Given the description of an element on the screen output the (x, y) to click on. 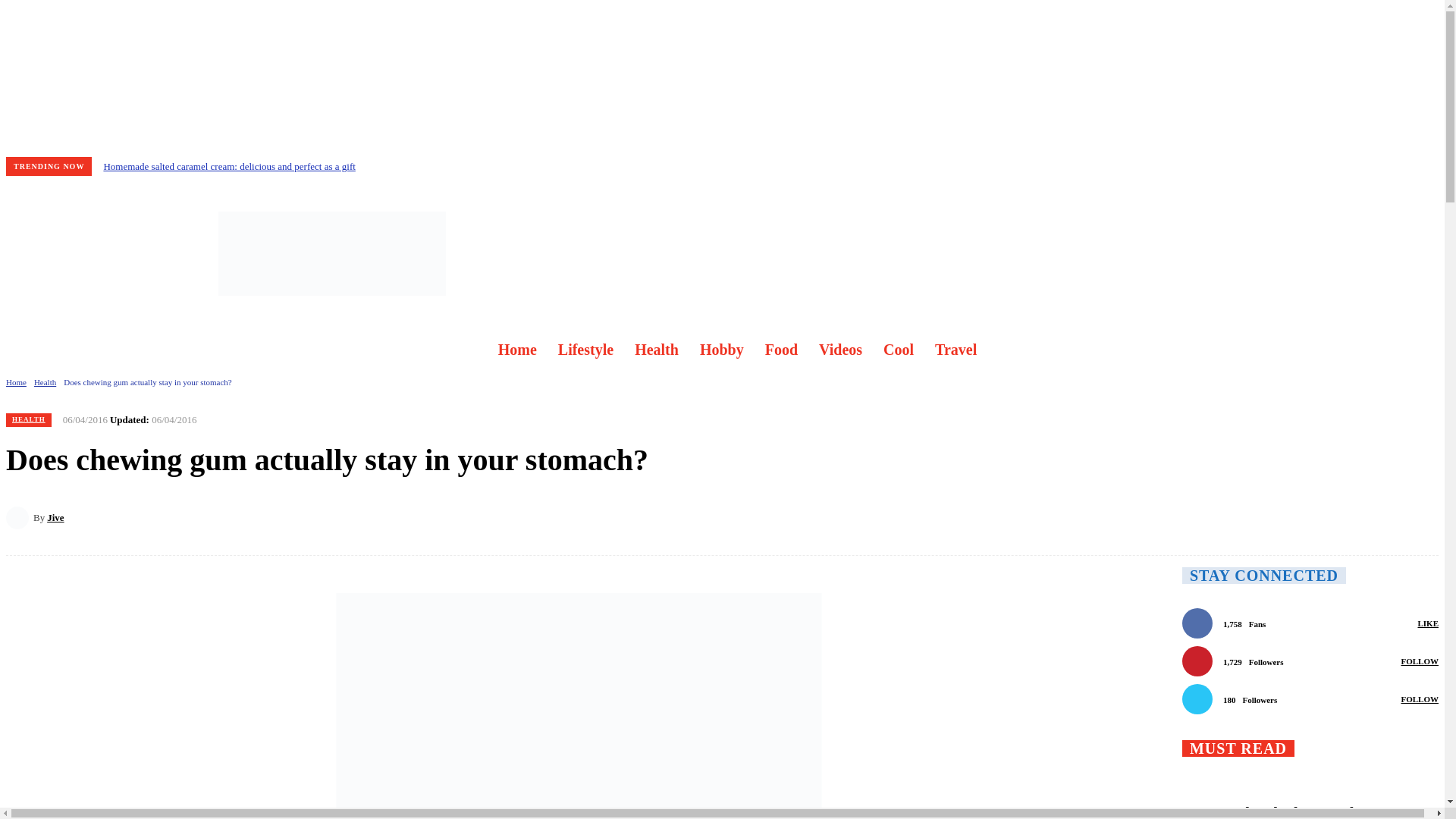
Hobby (721, 349)
Health (44, 381)
Cool (898, 349)
Home (15, 381)
Health (656, 349)
Instagram (73, 253)
Facebook (27, 253)
Travel (955, 349)
HEALTH (27, 419)
